Given the description of an element on the screen output the (x, y) to click on. 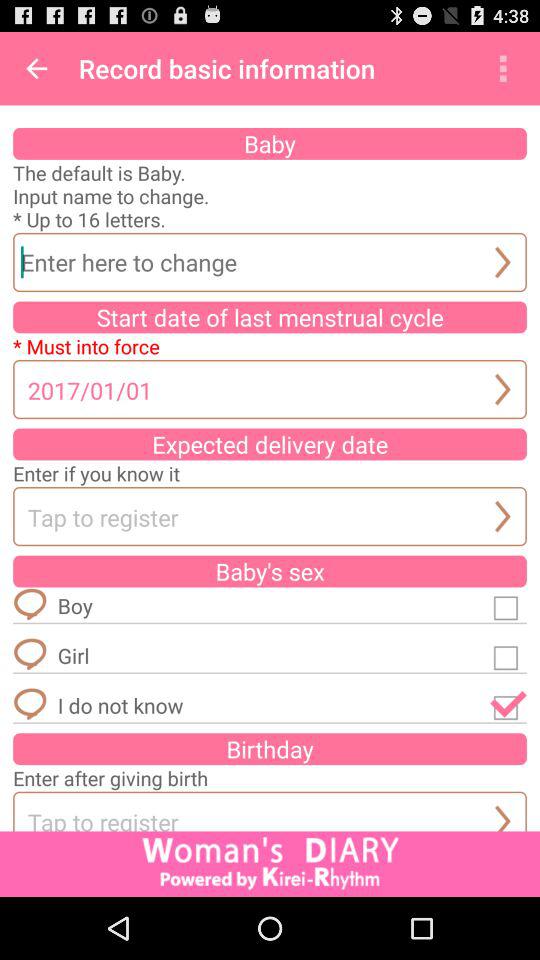
turn off icon to the left of record basic information item (36, 68)
